Given the description of an element on the screen output the (x, y) to click on. 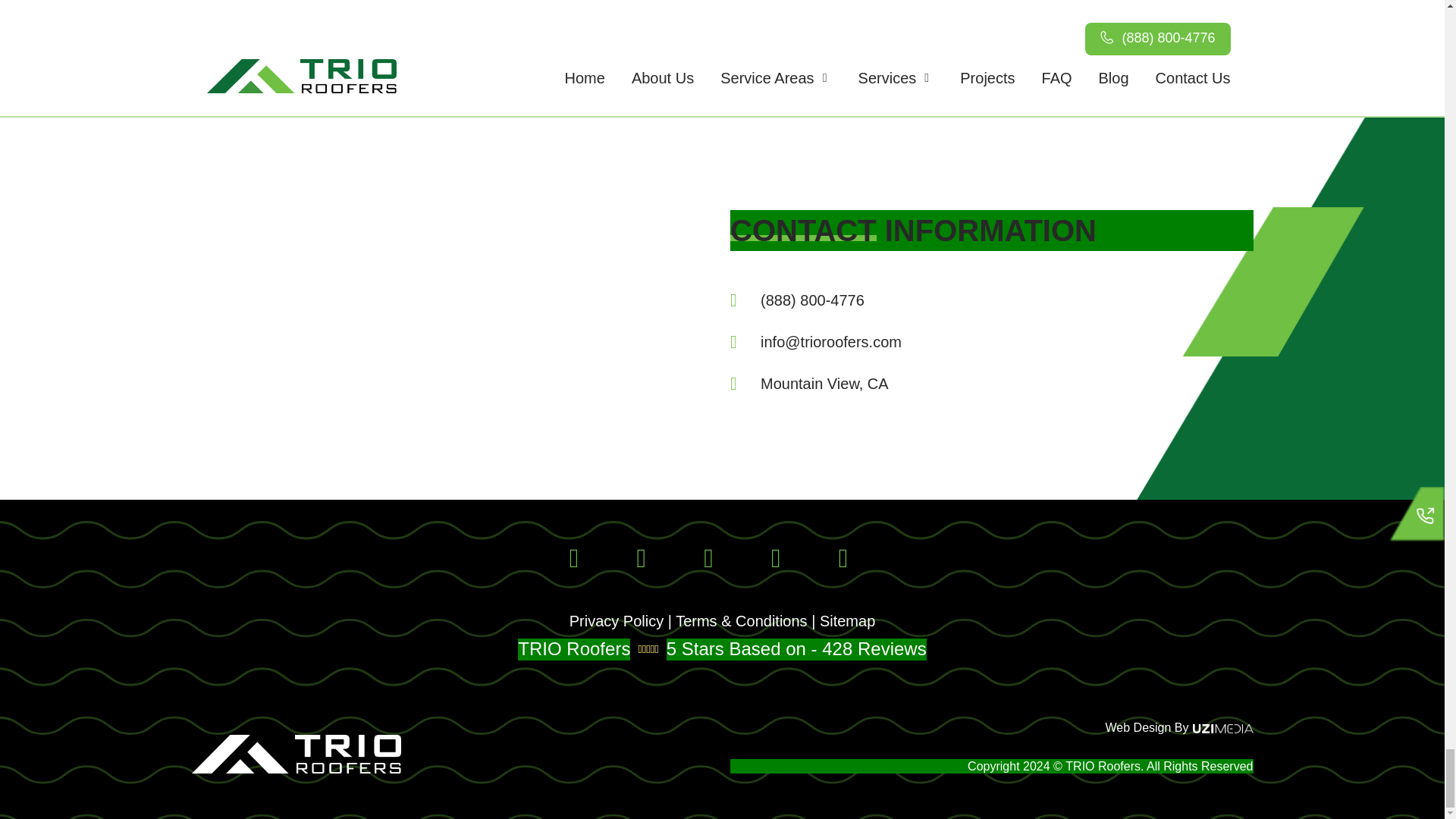
Mountain View (426, 302)
